Given the description of an element on the screen output the (x, y) to click on. 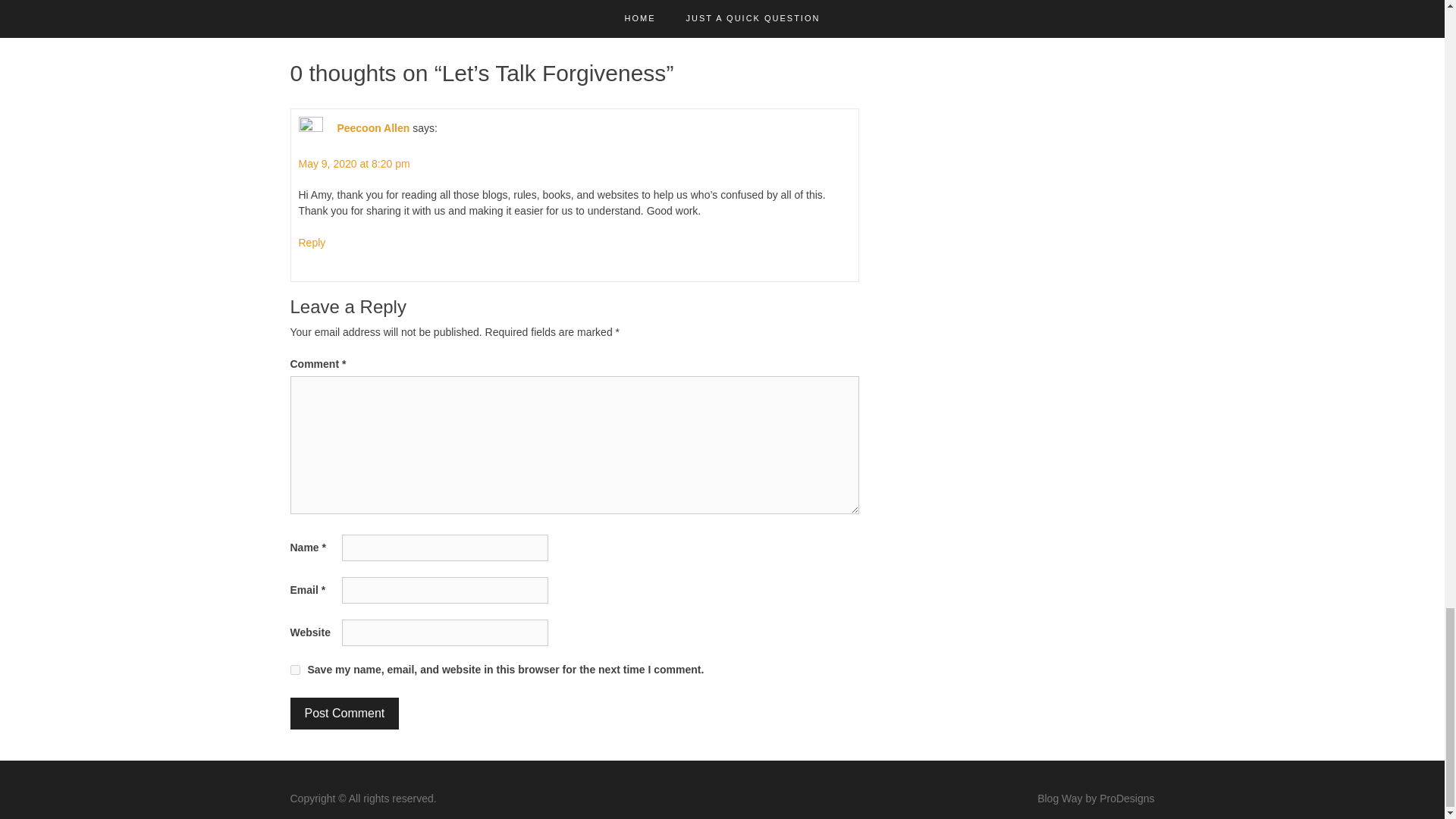
May 9, 2020 at 8:20 pm (354, 163)
Peecoon Allen (372, 128)
yes (294, 669)
Post Comment (343, 713)
Reply (312, 242)
ProDesigns (1126, 798)
Planning; It Is About Taming Chaos (750, 13)
Got Stimulus Questions? Here Are Some FAQs (430, 13)
Post Comment (343, 713)
